Given the description of an element on the screen output the (x, y) to click on. 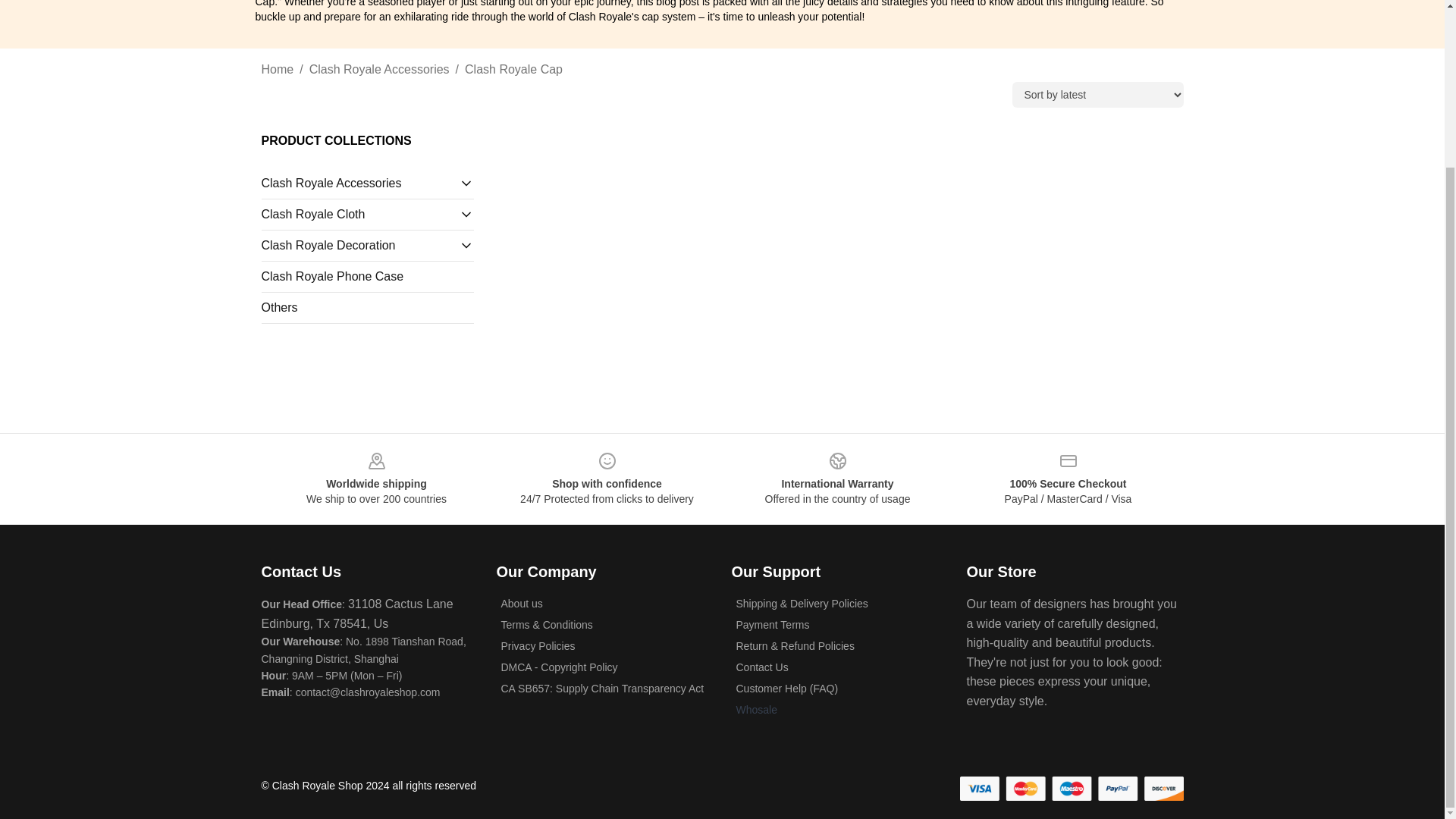
Home (277, 69)
Clash Royale Accessories (359, 183)
Others (366, 307)
Clash Royale Phone Case (366, 276)
Clash Royale Accessories (378, 69)
Clash Royale Cap (513, 69)
Clash Royale Decoration (359, 245)
Clash Royale Cloth (359, 214)
